Given the description of an element on the screen output the (x, y) to click on. 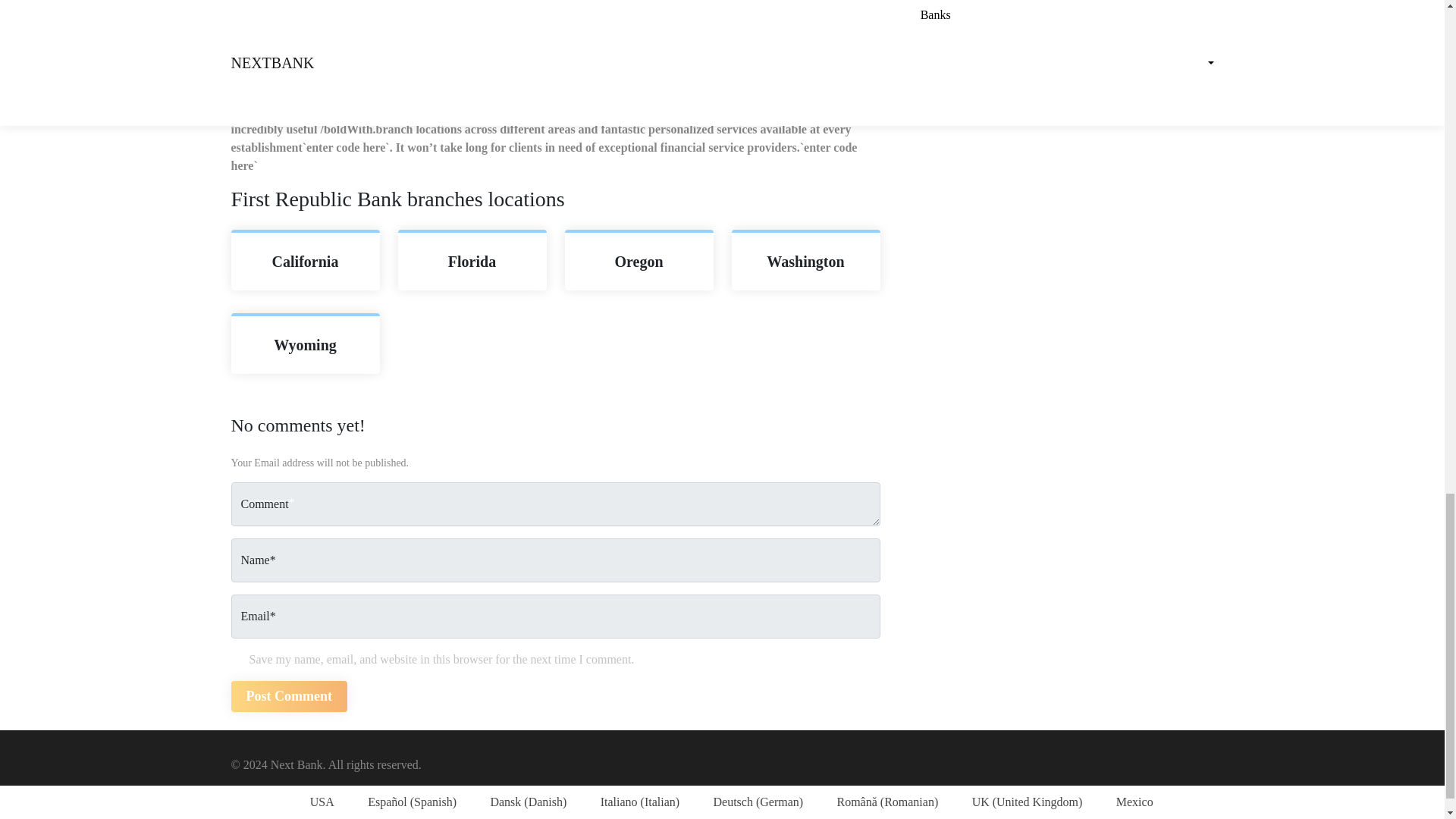
Mexico (1124, 802)
Oregon (639, 261)
Post Comment (288, 695)
Wyoming (304, 344)
California (304, 261)
USA (311, 802)
Florida (472, 261)
Post Comment (288, 695)
Washington (805, 261)
